Given the description of an element on the screen output the (x, y) to click on. 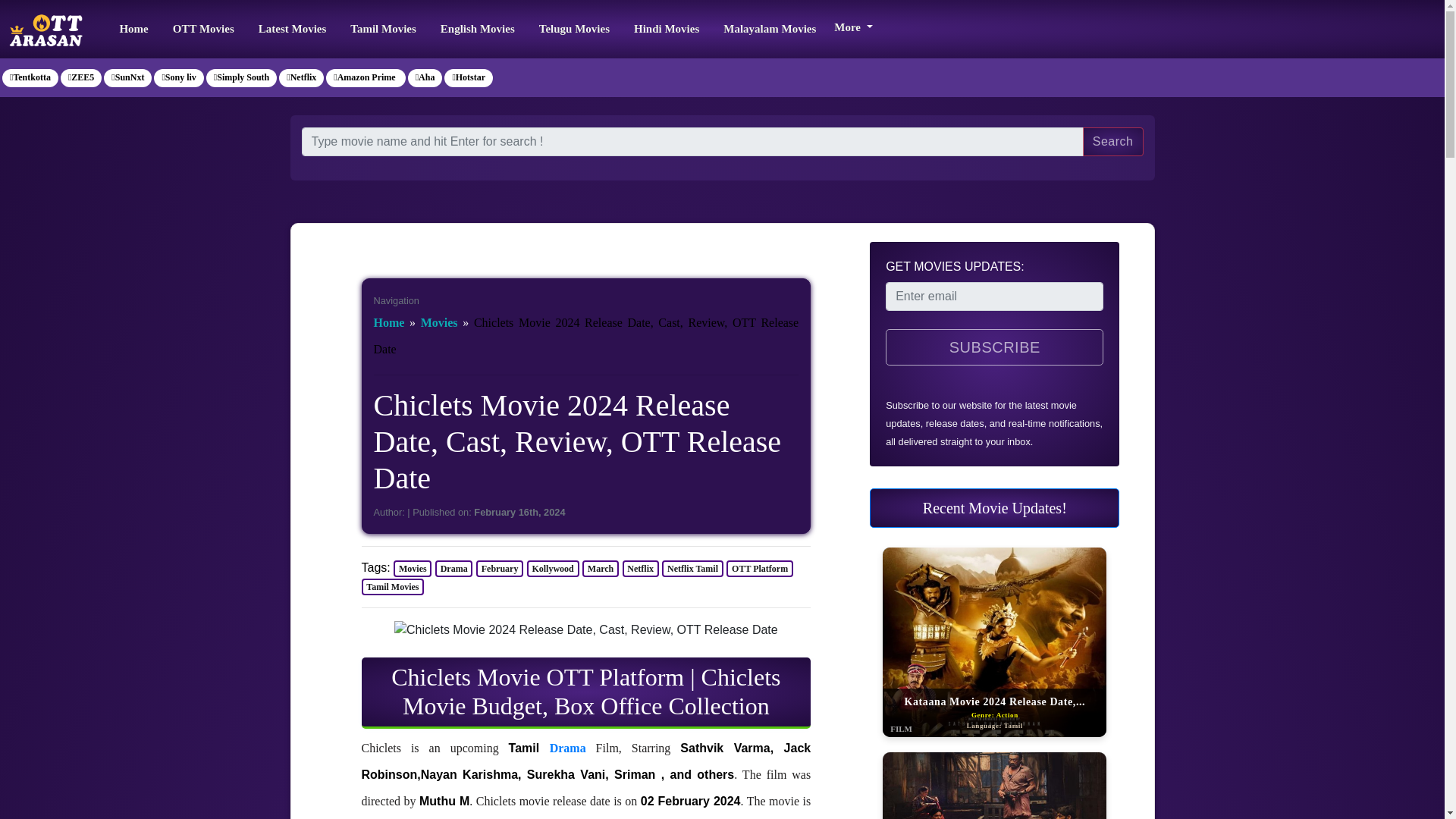
Drama (454, 568)
Malayalam Movies (769, 29)
Netflix Tamil (692, 568)
Hindi Movies (665, 29)
English Movies (477, 29)
Home (388, 322)
Movies (411, 568)
Movies (439, 322)
Tamil Movies (392, 586)
More (852, 25)
